Given the description of an element on the screen output the (x, y) to click on. 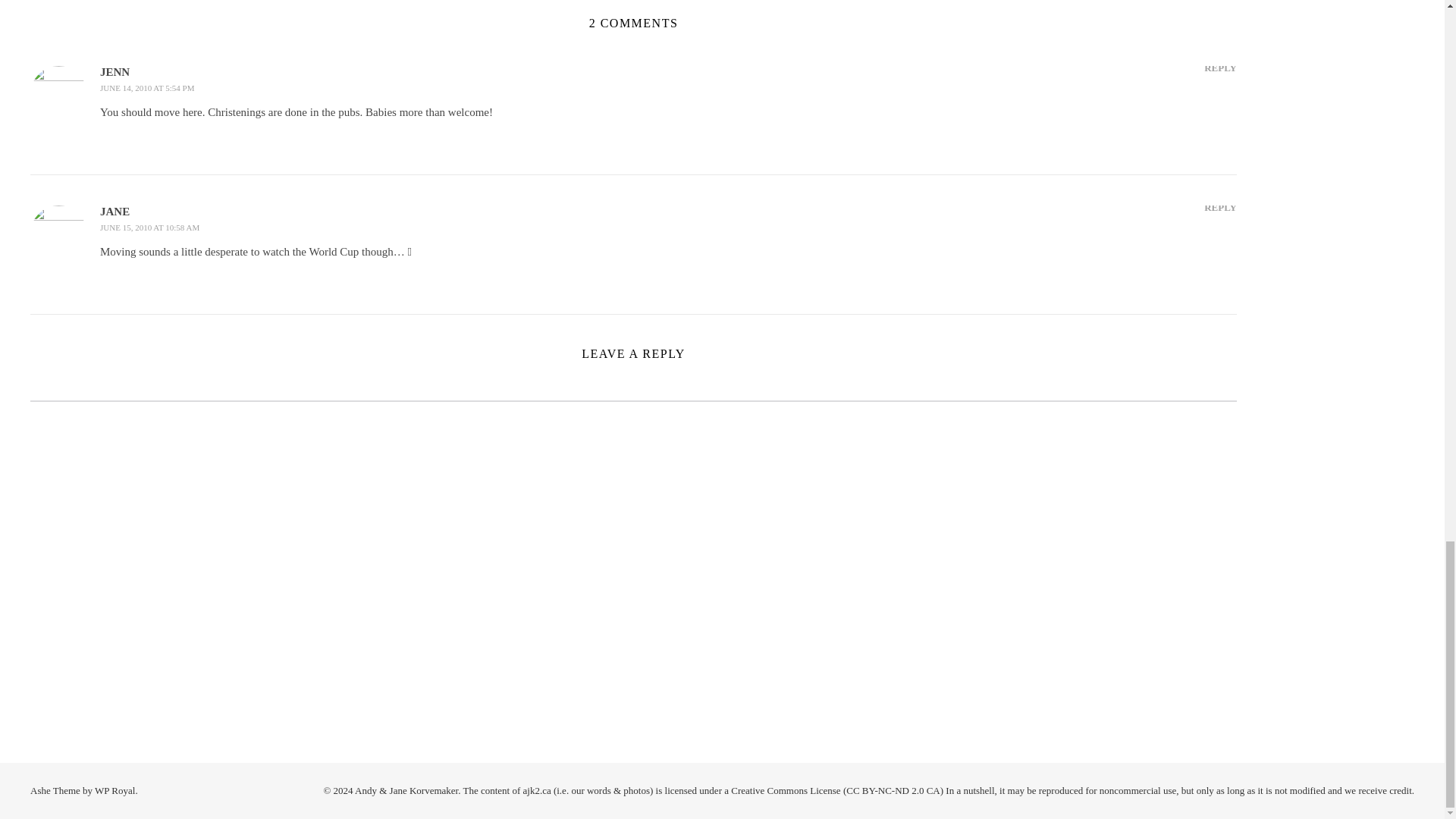
JUNE 15, 2010 AT 10:58 AM (149, 226)
REPLY (1220, 207)
REPLY (1220, 67)
JUNE 14, 2010 AT 5:54 PM (146, 87)
